Given the description of an element on the screen output the (x, y) to click on. 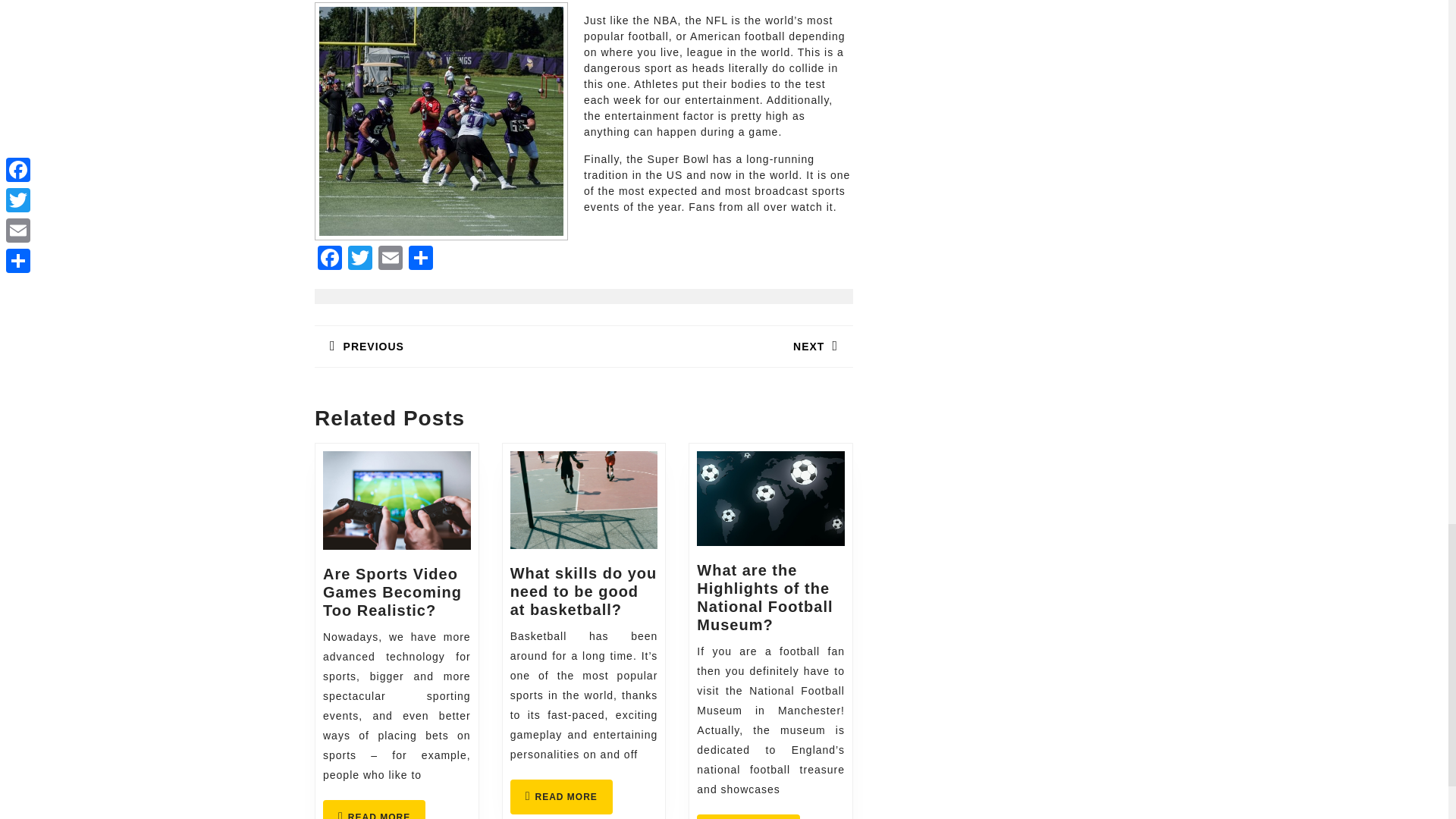
Email (374, 809)
Email (390, 259)
Facebook (390, 259)
Twitter (748, 816)
Twitter (329, 259)
